Given the description of an element on the screen output the (x, y) to click on. 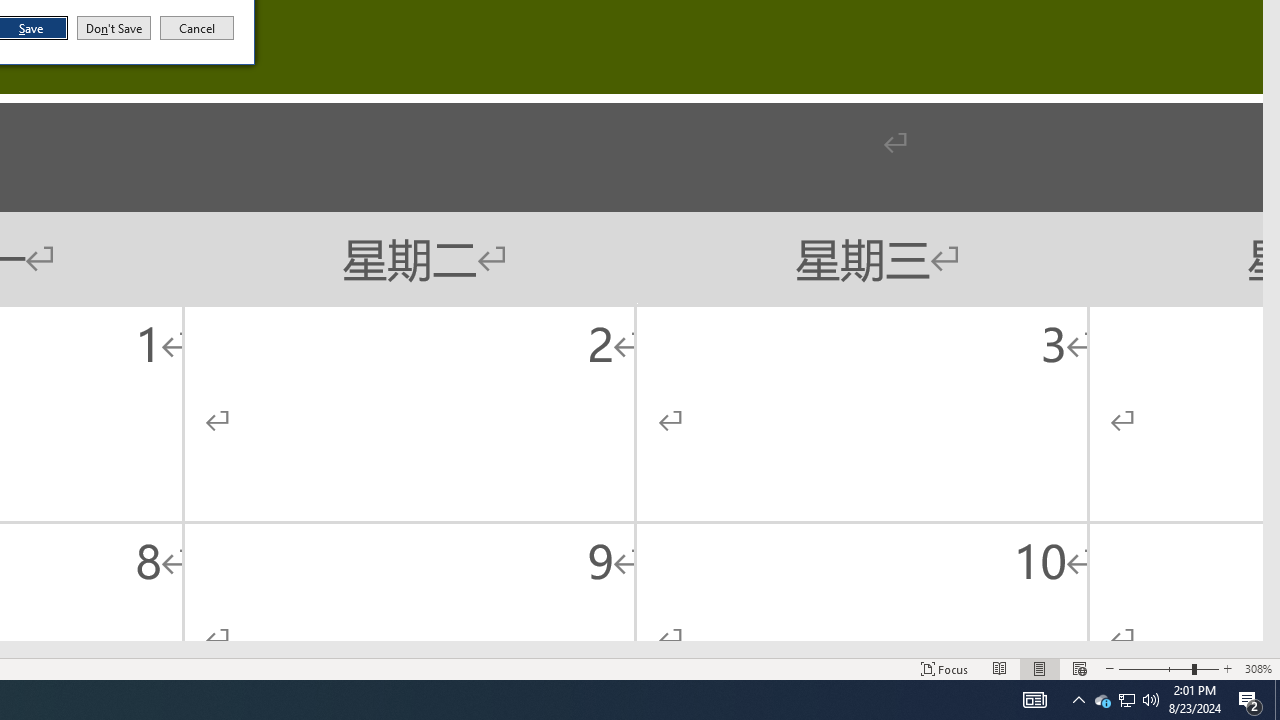
Cancel (197, 27)
Zoom In (1227, 668)
Read Mode (1000, 668)
Zoom (1168, 668)
Don't Save (113, 27)
User Promoted Notification Area (1126, 699)
AutomationID: 4105 (1126, 699)
Q2790: 100% (1034, 699)
Print Layout (1102, 699)
Web Layout (1151, 699)
Notification Chevron (1039, 668)
Zoom Out (1079, 668)
